Given the description of an element on the screen output the (x, y) to click on. 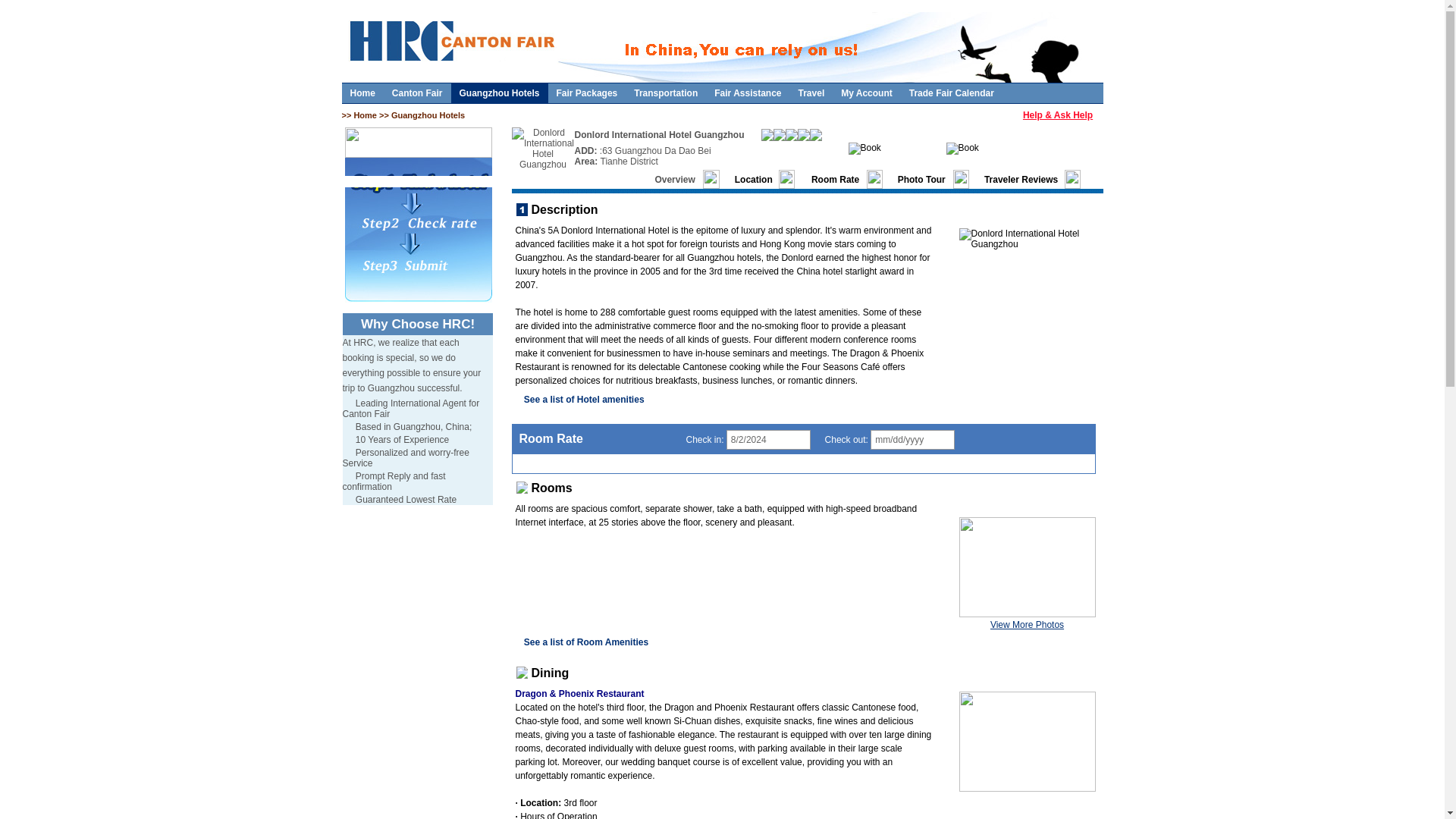
Guangzhou Hotels (499, 93)
Canton Fair (417, 93)
Transportation (666, 93)
Photo Tour (921, 179)
Location (754, 179)
Travel (811, 93)
Canton Travel (811, 93)
Transportation (666, 93)
Trade Fair Calendar (952, 93)
Room Rate (834, 179)
Home (365, 114)
My Account (866, 93)
Traveler Reviews (1021, 179)
Fair Packages (587, 93)
Canton Fair (417, 93)
